Given the description of an element on the screen output the (x, y) to click on. 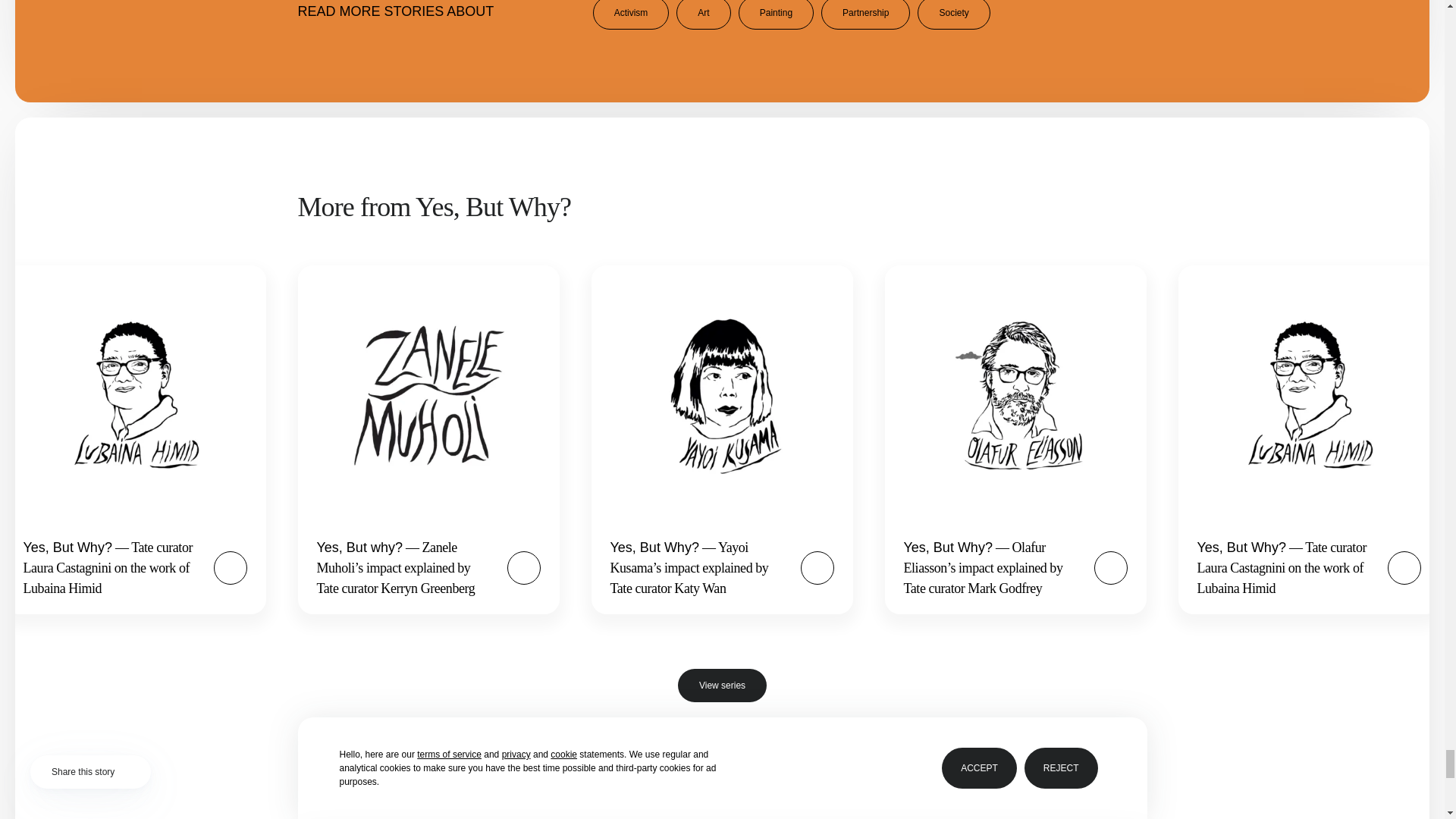
Activism (630, 14)
Partnership (865, 14)
Society (953, 14)
Painting (775, 14)
Art (703, 14)
